Given the description of an element on the screen output the (x, y) to click on. 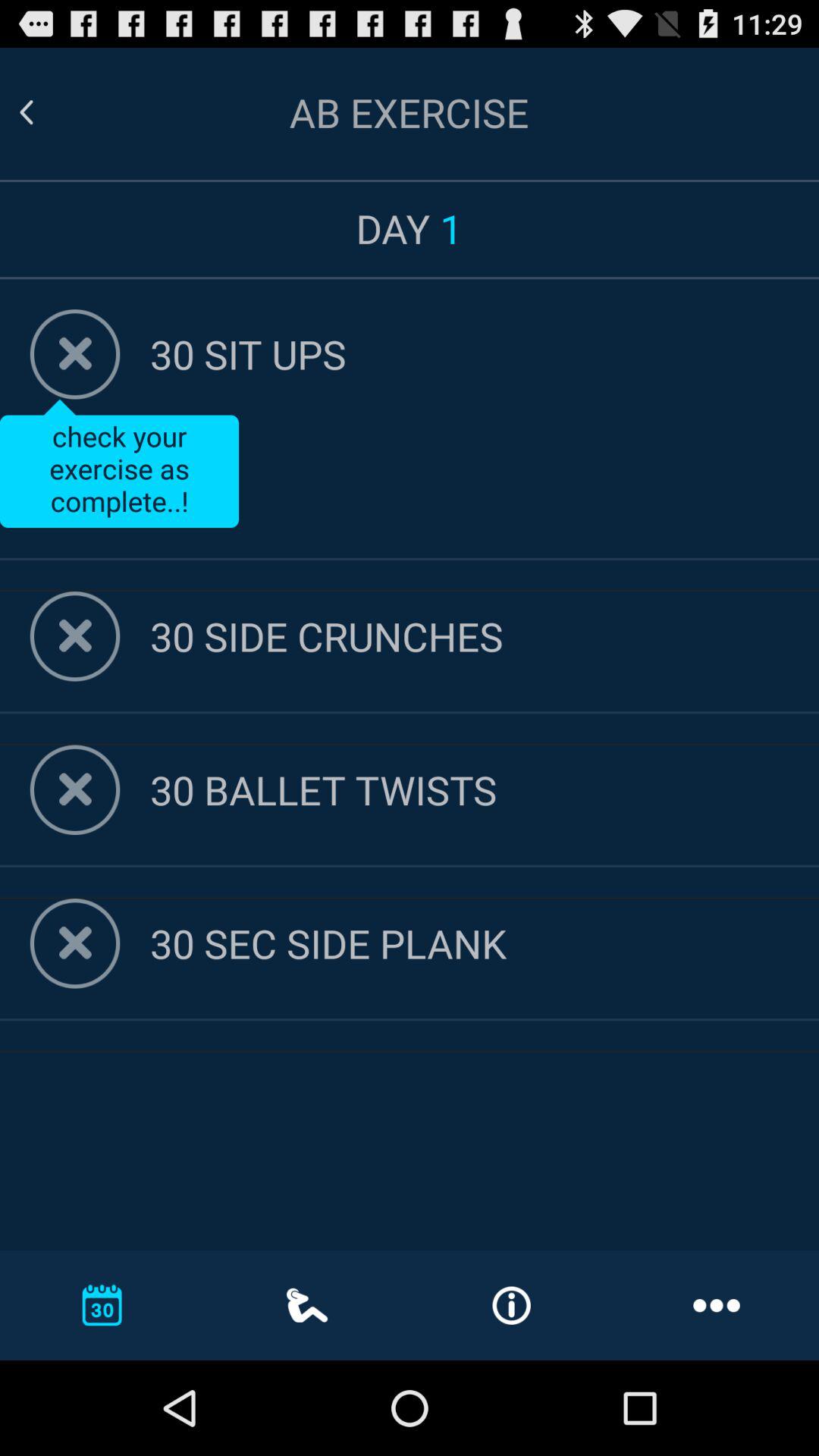
check off item button (75, 943)
